Given the description of an element on the screen output the (x, y) to click on. 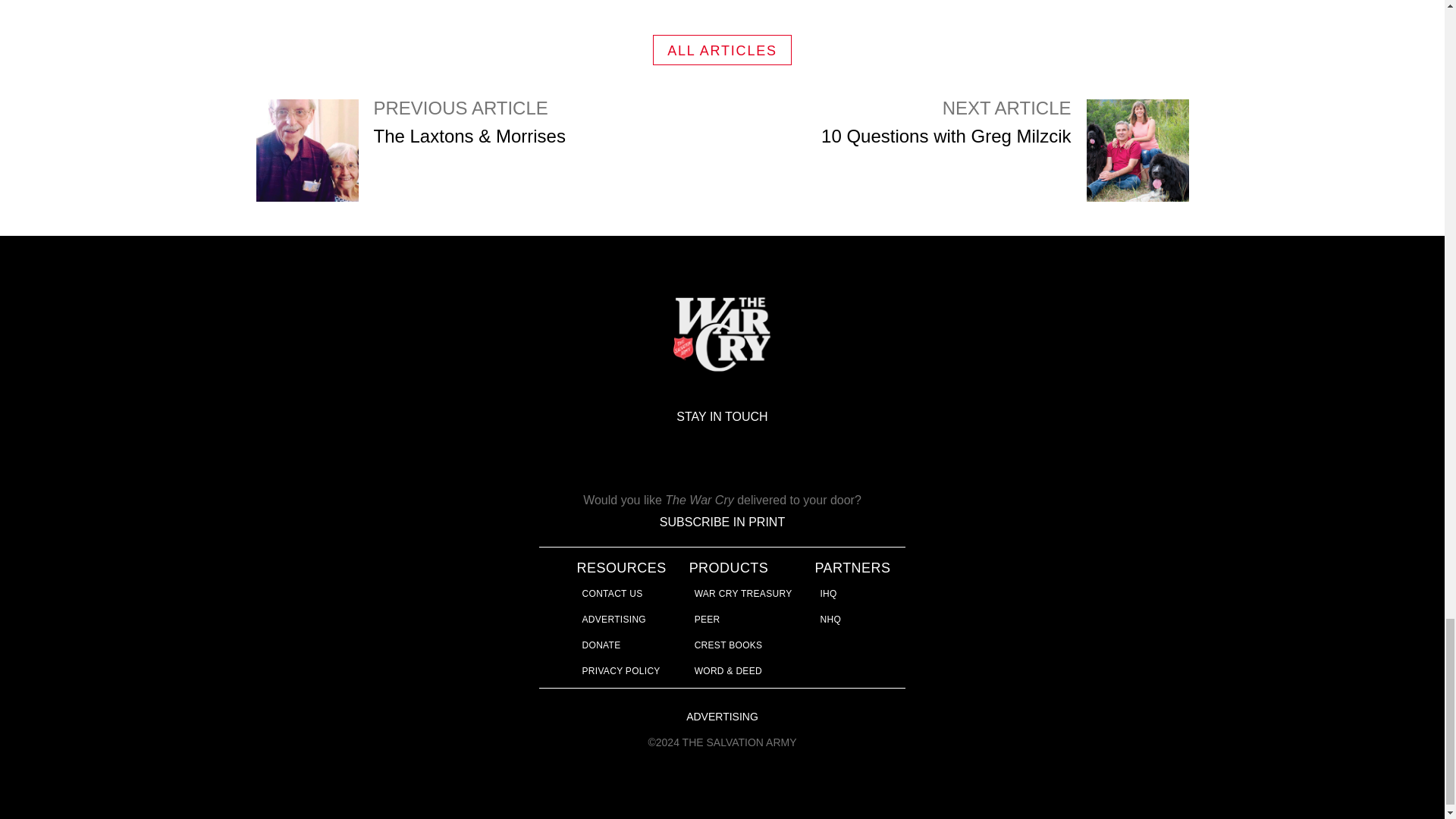
SUBSCRIBE IN PRINT (721, 521)
ALL ARTICLES (722, 50)
ADVERTISING (1004, 150)
CONTACT US (614, 619)
DONATE (612, 593)
PRIVACY POLICY (601, 644)
